Given the description of an element on the screen output the (x, y) to click on. 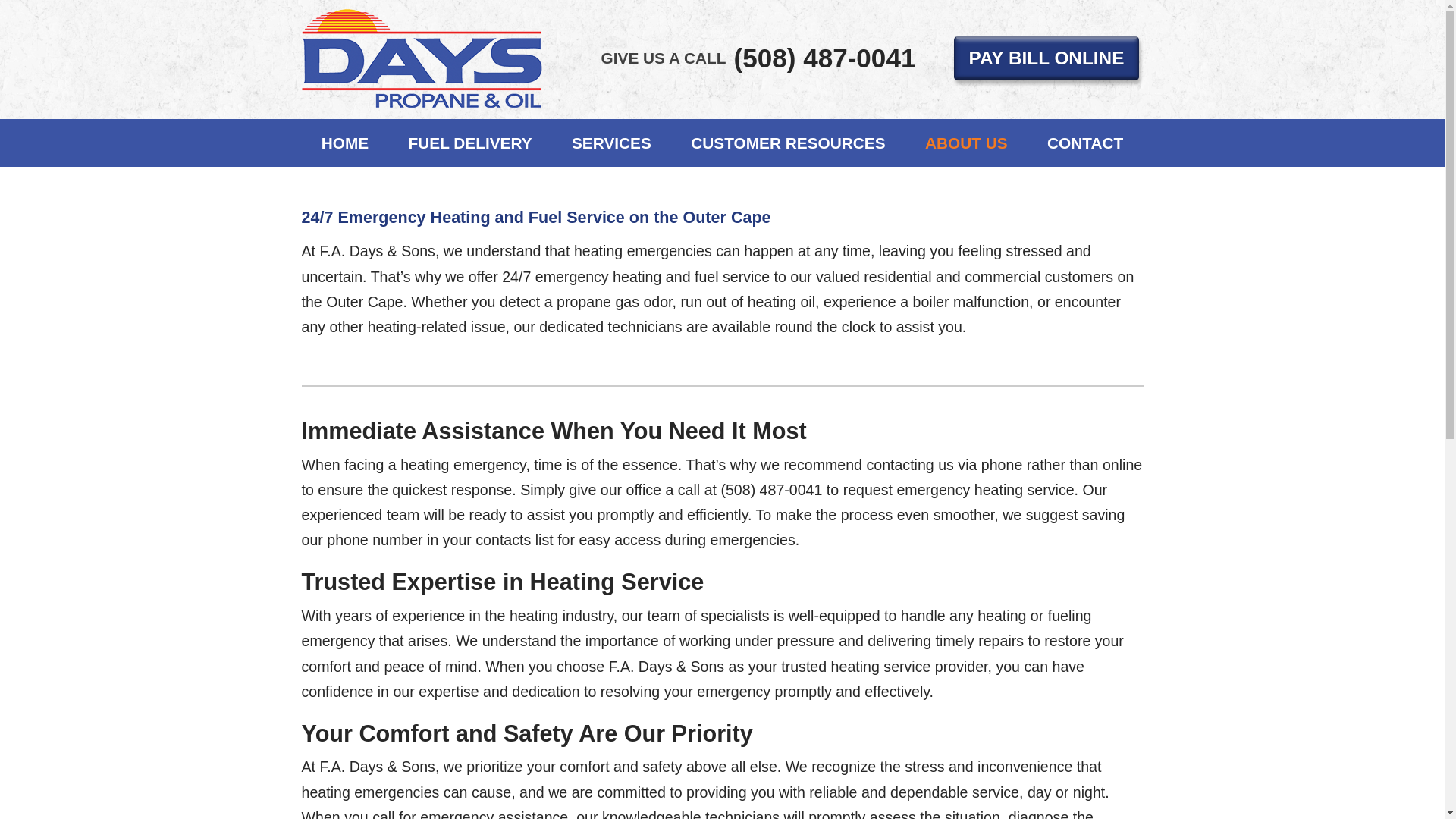
ABOUT US (966, 142)
HOME (344, 142)
PAY BILL ONLINE (1046, 58)
FUEL DELIVERY (469, 142)
Home (344, 142)
Fuel Delivery (469, 142)
CONTACT (1084, 142)
Customer Resources (788, 142)
Services (611, 142)
SERVICES (611, 142)
